Given the description of an element on the screen output the (x, y) to click on. 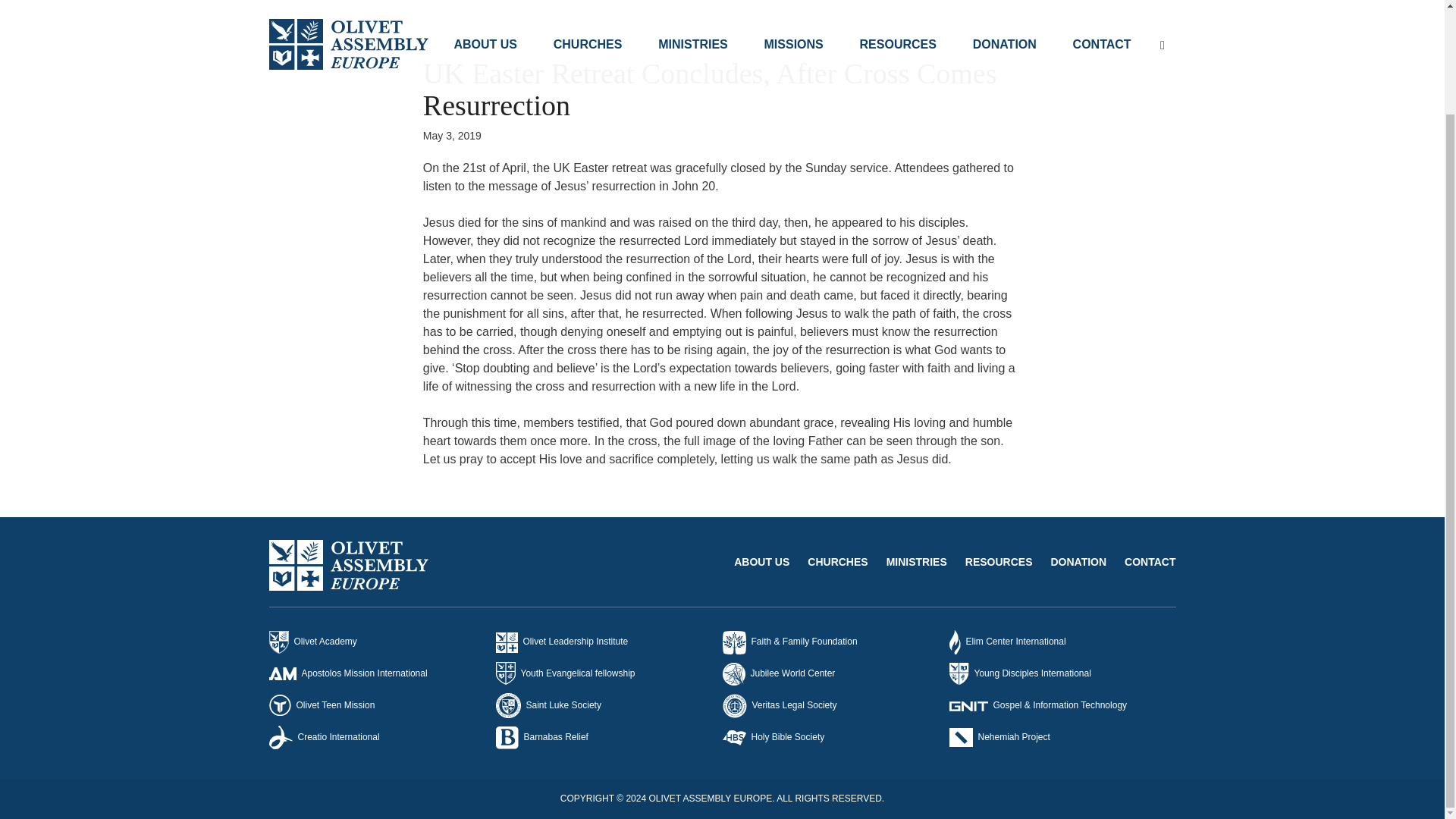
Home (282, 0)
News (320, 0)
Home (282, 0)
